Given the description of an element on the screen output the (x, y) to click on. 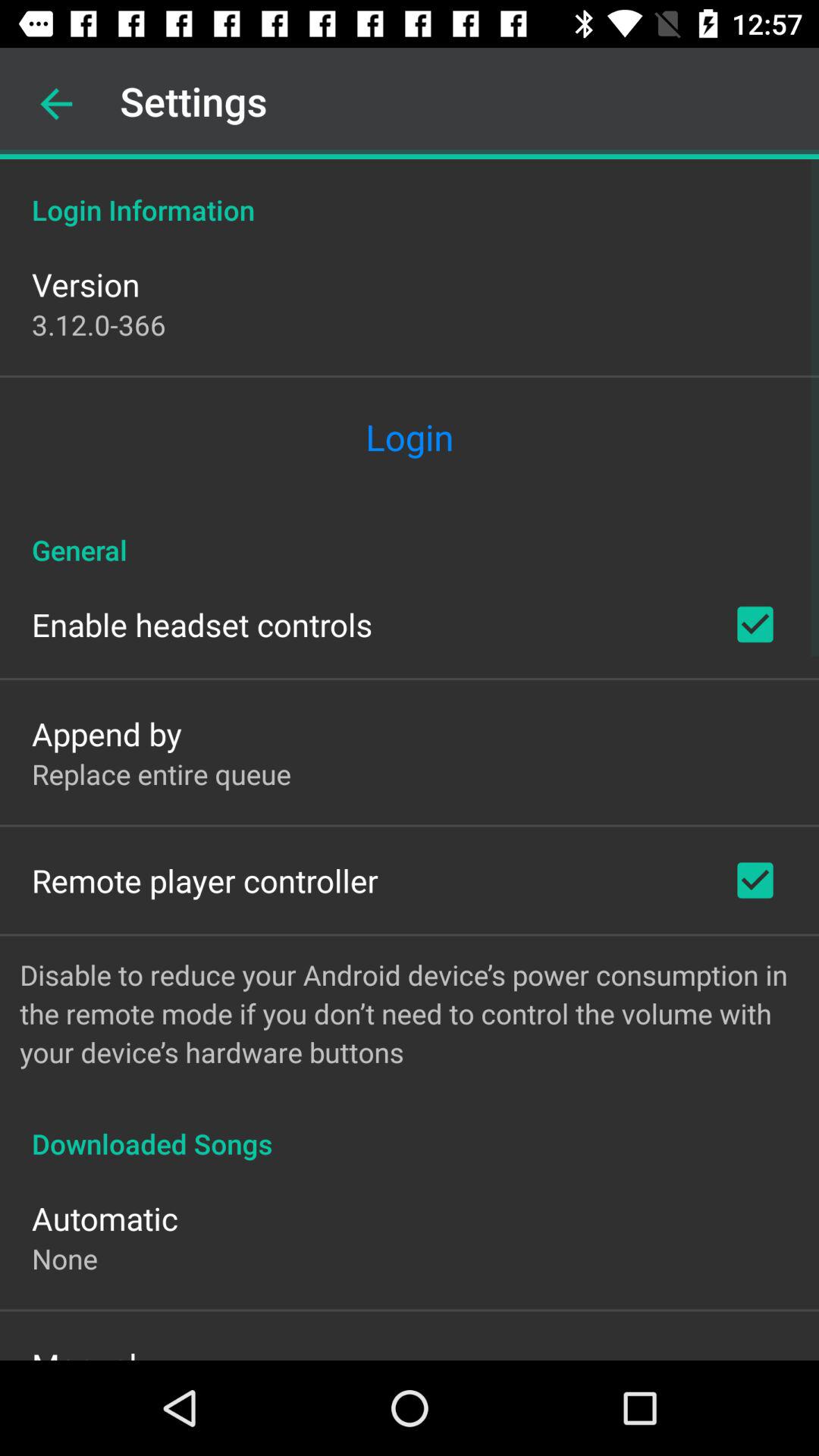
flip to 3 12 0 (98, 324)
